Given the description of an element on the screen output the (x, y) to click on. 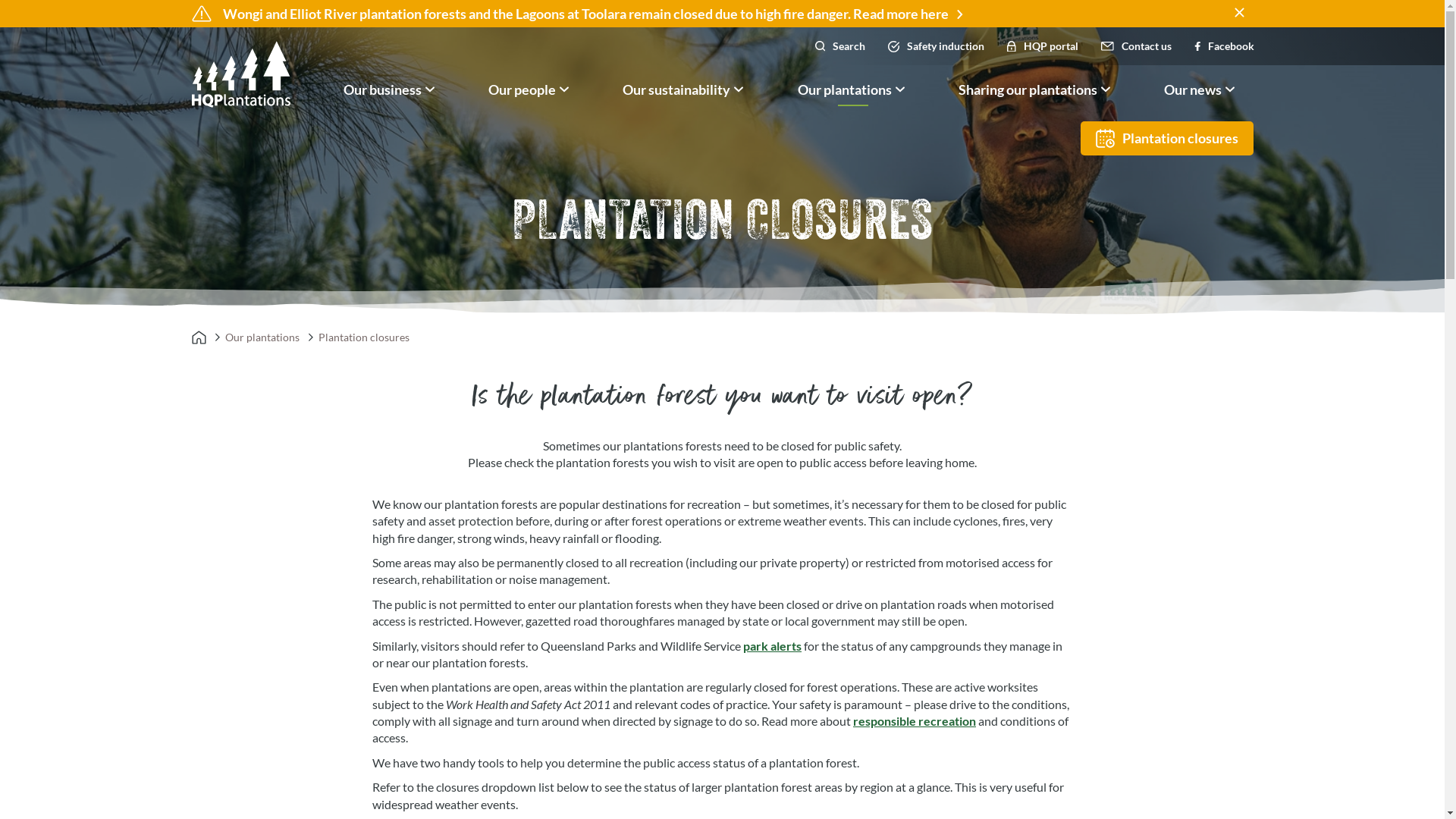
Contact us Element type: text (1136, 45)
Facebook Element type: text (1223, 45)
park alerts Element type: text (772, 645)
responsible recreation Element type: text (914, 720)
Safety induction Element type: text (936, 45)
Search Element type: text (840, 45)
Plantation closures Element type: text (1165, 138)
HQP portal Element type: text (1042, 45)
